Given the description of an element on the screen output the (x, y) to click on. 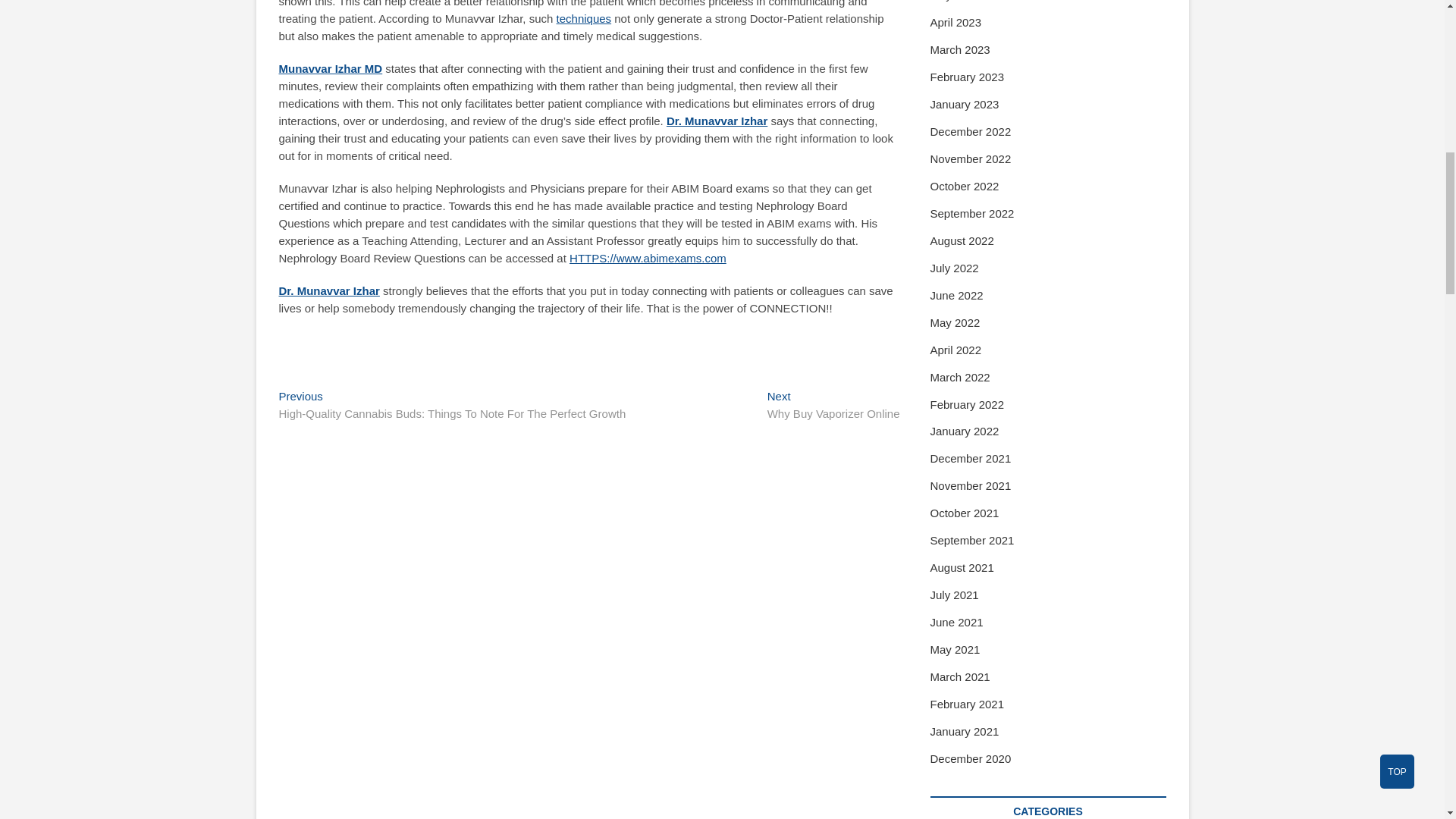
Dr. Munavvar Izhar (716, 120)
Dr. Munavvar Izhar (329, 290)
techniques (583, 18)
Munavvar Izhar MD (833, 406)
